Given the description of an element on the screen output the (x, y) to click on. 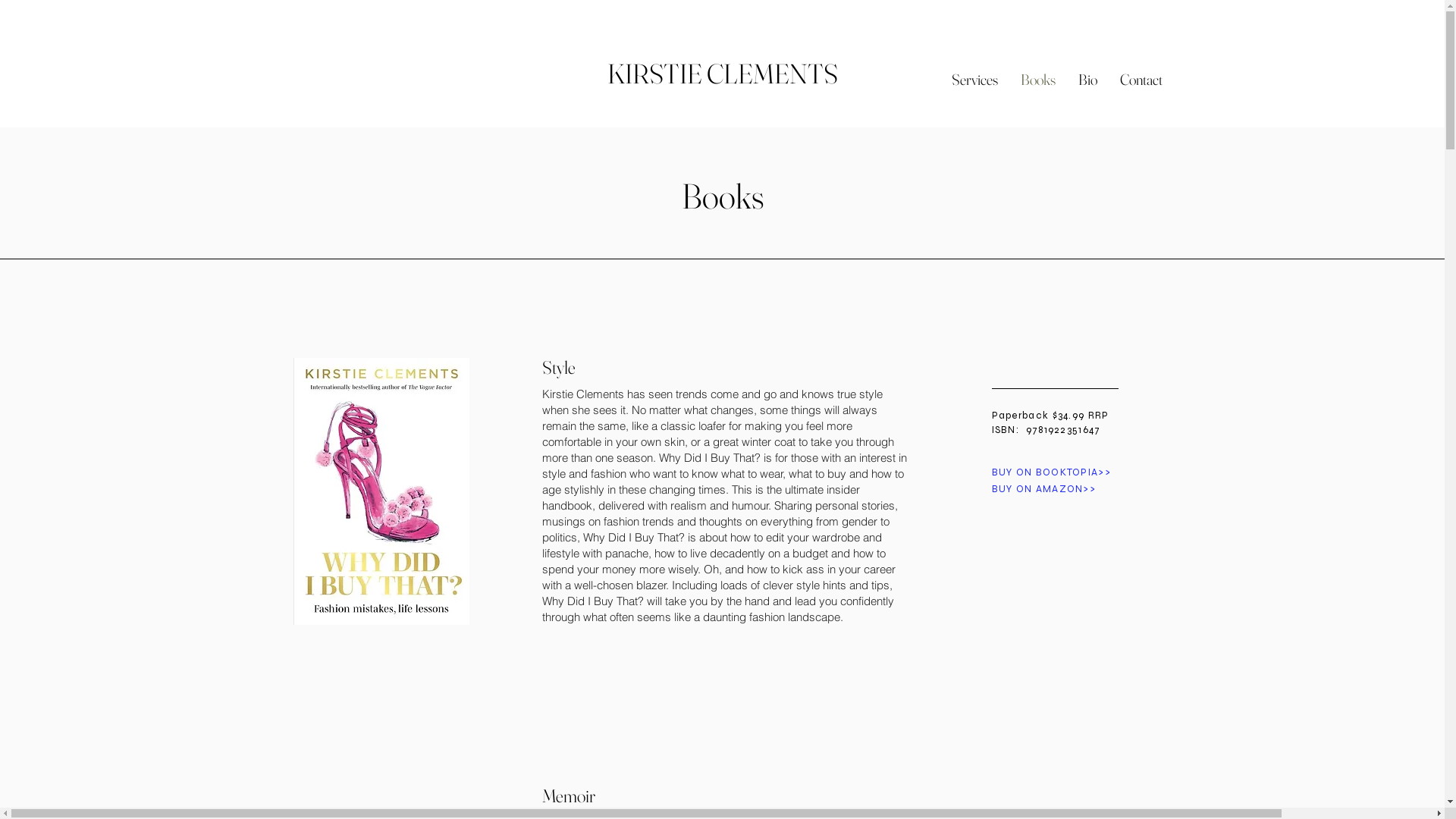
BUY ON BOOKTOPIA>> Element type: text (1050, 472)
Bio Element type: text (1086, 79)
KIRSTIE CLEMENTS Element type: text (721, 73)
Services Element type: text (974, 79)
Books Element type: text (1037, 79)
BUY ON AMAZON>> Element type: text (1043, 489)
Contact Element type: text (1140, 79)
